Given the description of an element on the screen output the (x, y) to click on. 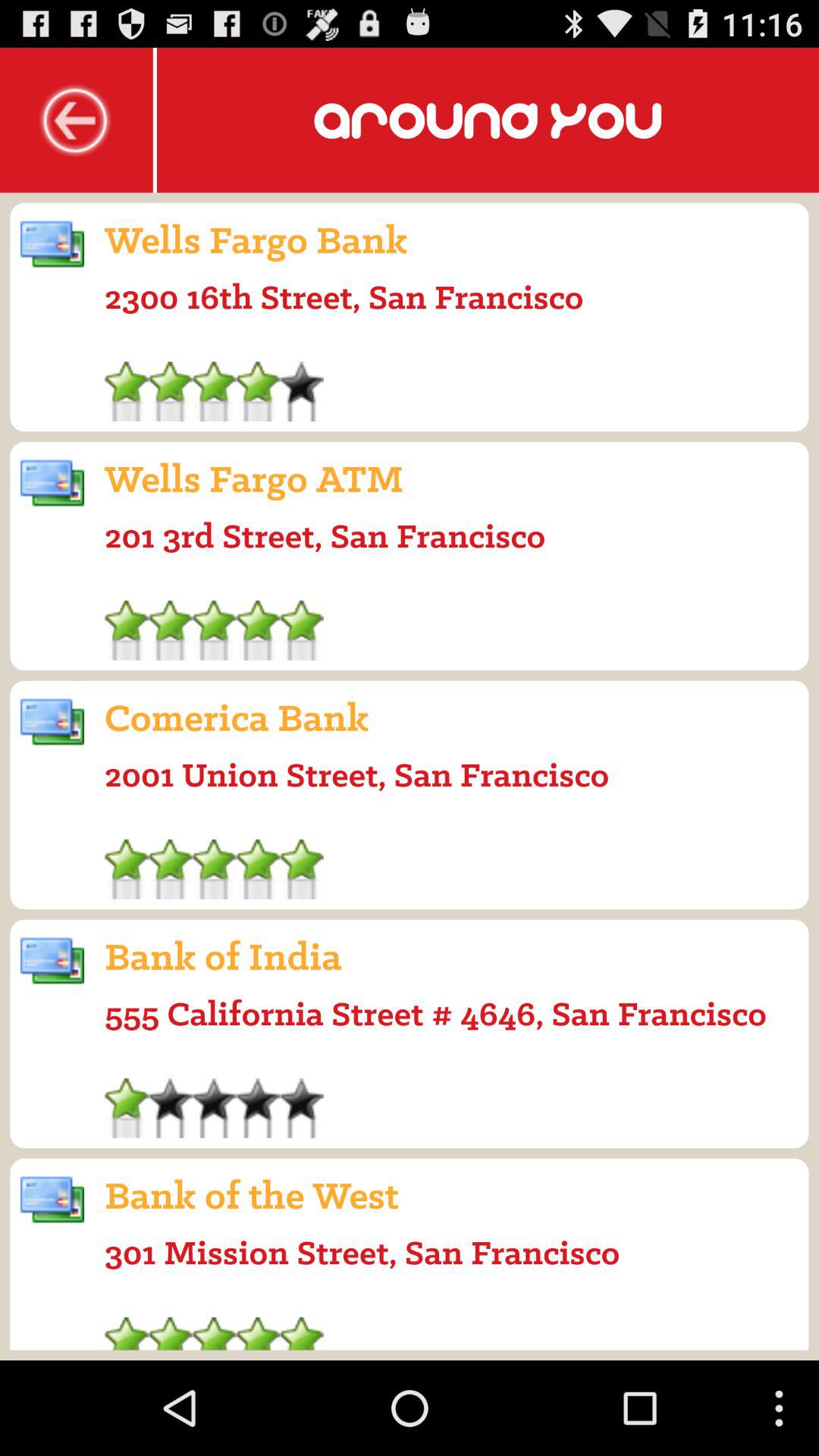
swipe to 2300 16th street icon (343, 296)
